Given the description of an element on the screen output the (x, y) to click on. 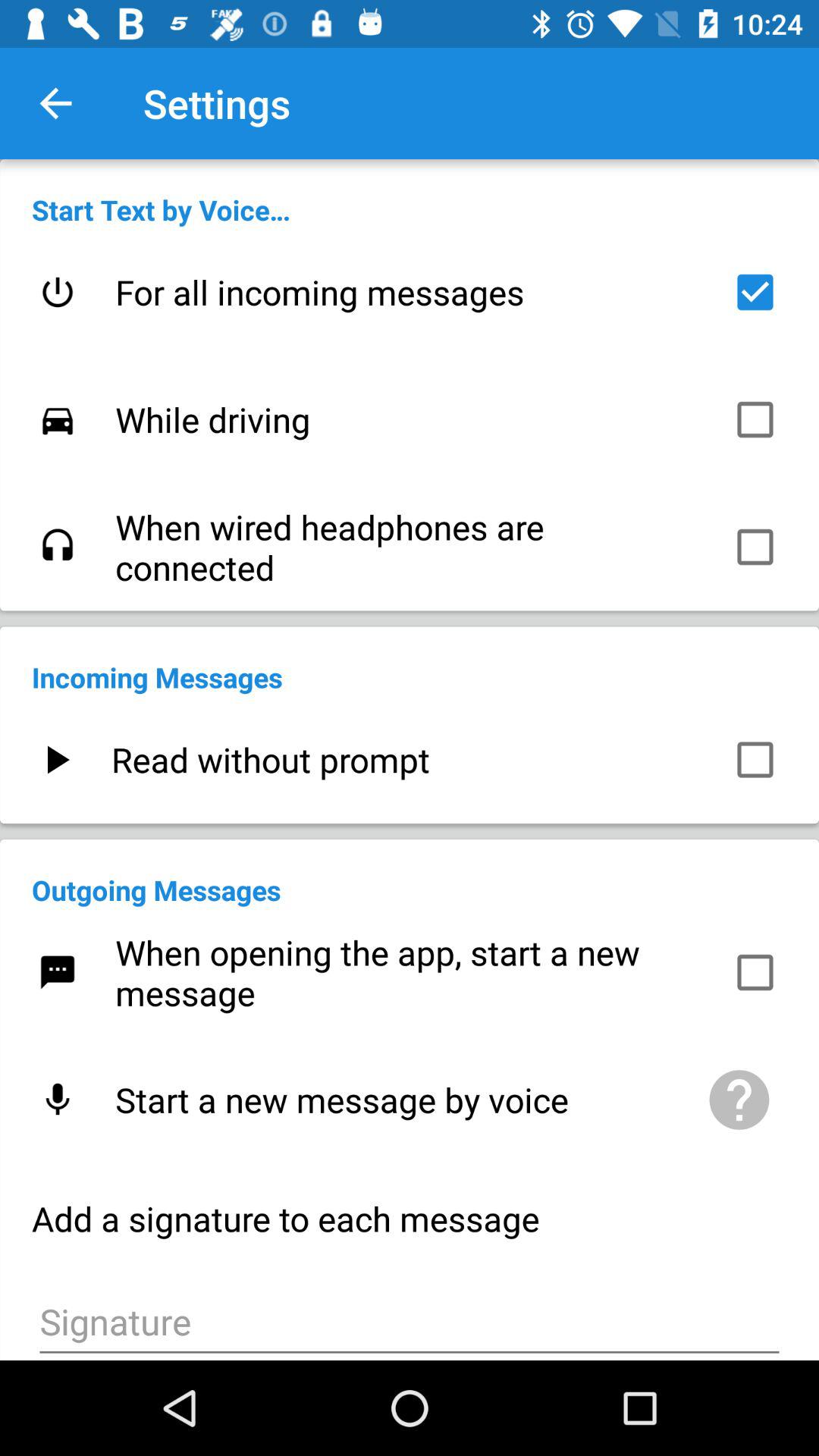
tap the item above the start text by item (55, 103)
